Given the description of an element on the screen output the (x, y) to click on. 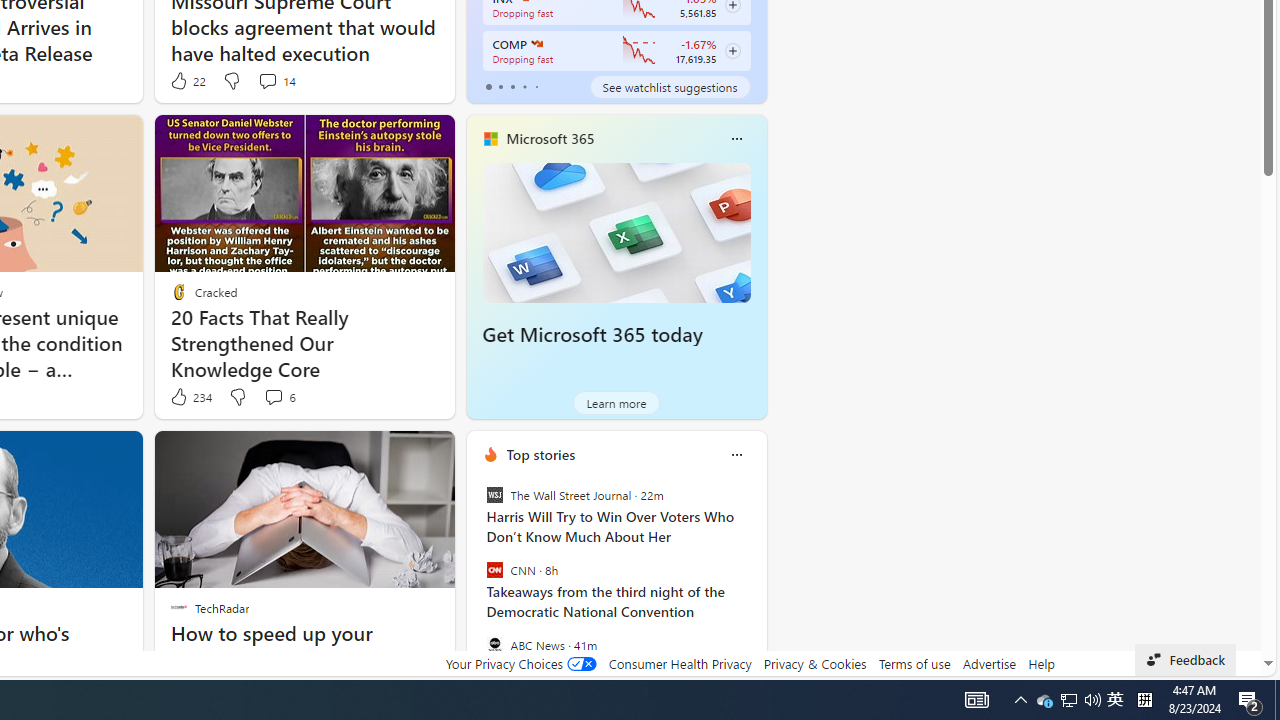
tab-4 (535, 86)
tab-2 (511, 86)
Hide this story (201, 454)
View comments 6 Comment (279, 397)
The Wall Street Journal (494, 494)
See watchlist suggestions (669, 86)
